Given the description of an element on the screen output the (x, y) to click on. 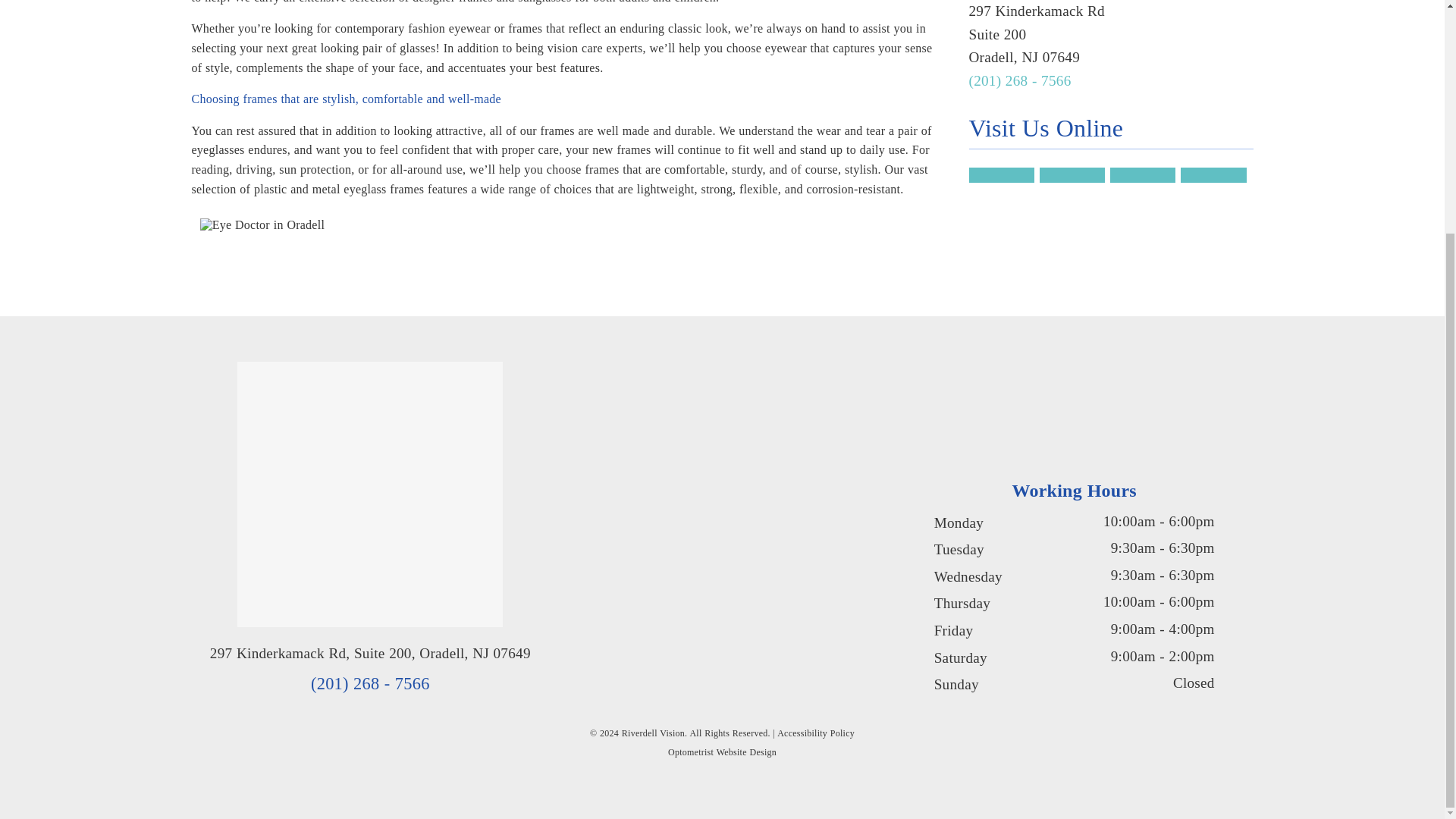
Optometrist Website Design (722, 751)
Accessibility Policy (815, 733)
